Given the description of an element on the screen output the (x, y) to click on. 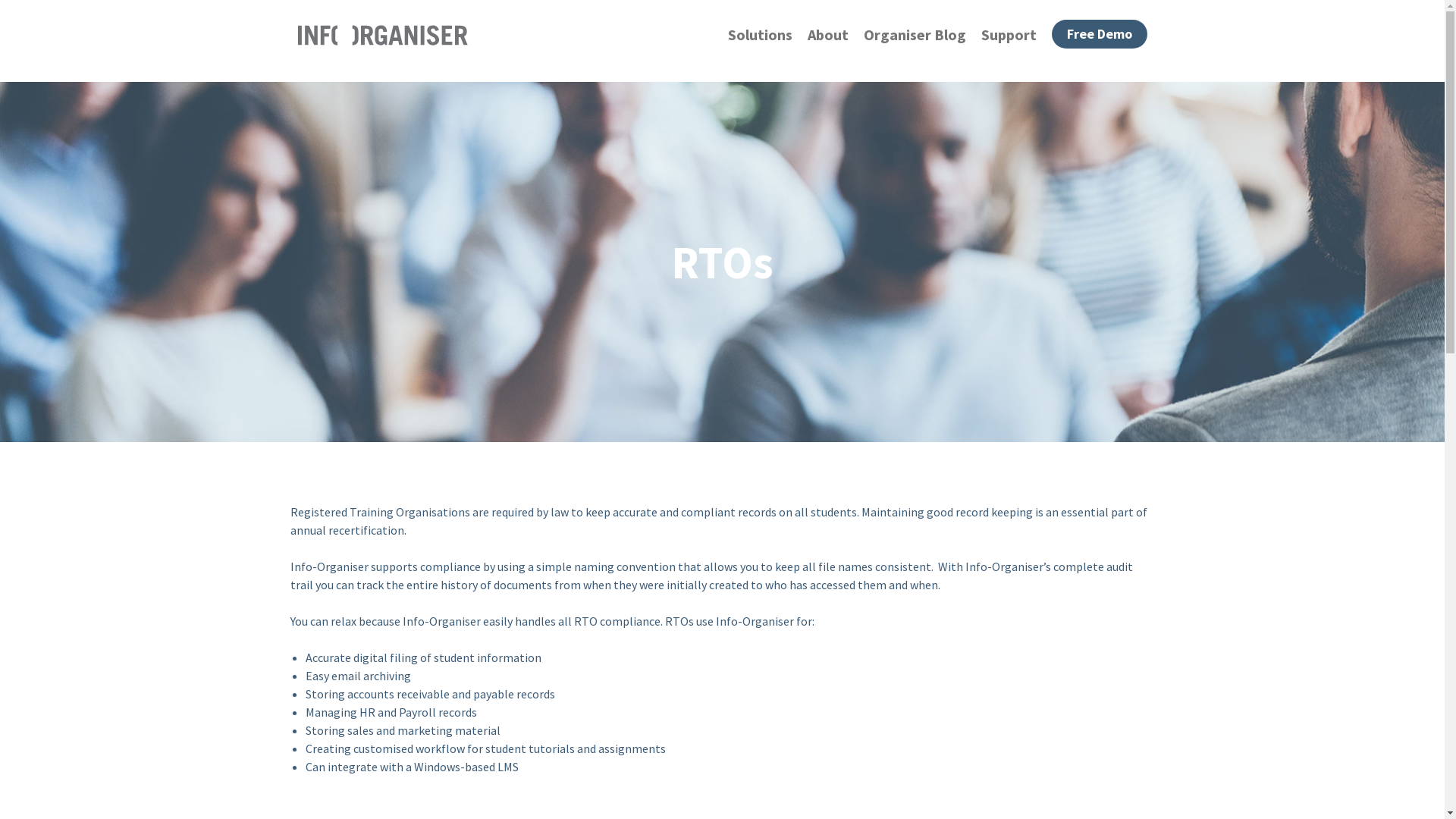
Organiser Blog Element type: text (913, 34)
About Element type: text (826, 34)
Solutions Element type: text (760, 34)
Support Element type: text (1008, 34)
Free Demo Element type: text (1098, 33)
